Given the description of an element on the screen output the (x, y) to click on. 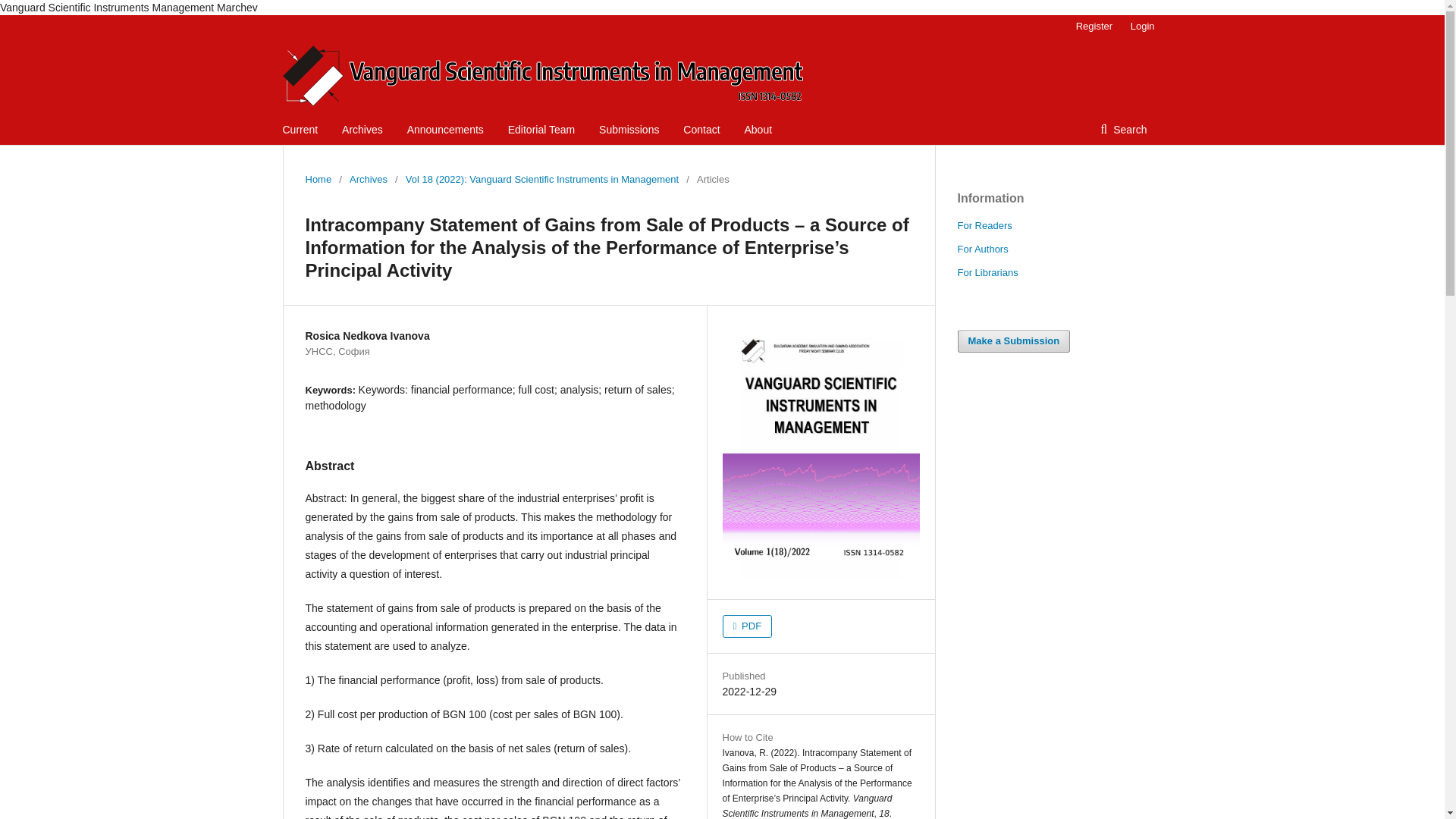
Archives (368, 179)
For Librarians (986, 272)
Announcements (445, 129)
Editorial Team (541, 129)
Current (299, 129)
For Authors (981, 248)
PDF (746, 626)
About (757, 129)
Register (1093, 26)
Submissions (628, 129)
